Given the description of an element on the screen output the (x, y) to click on. 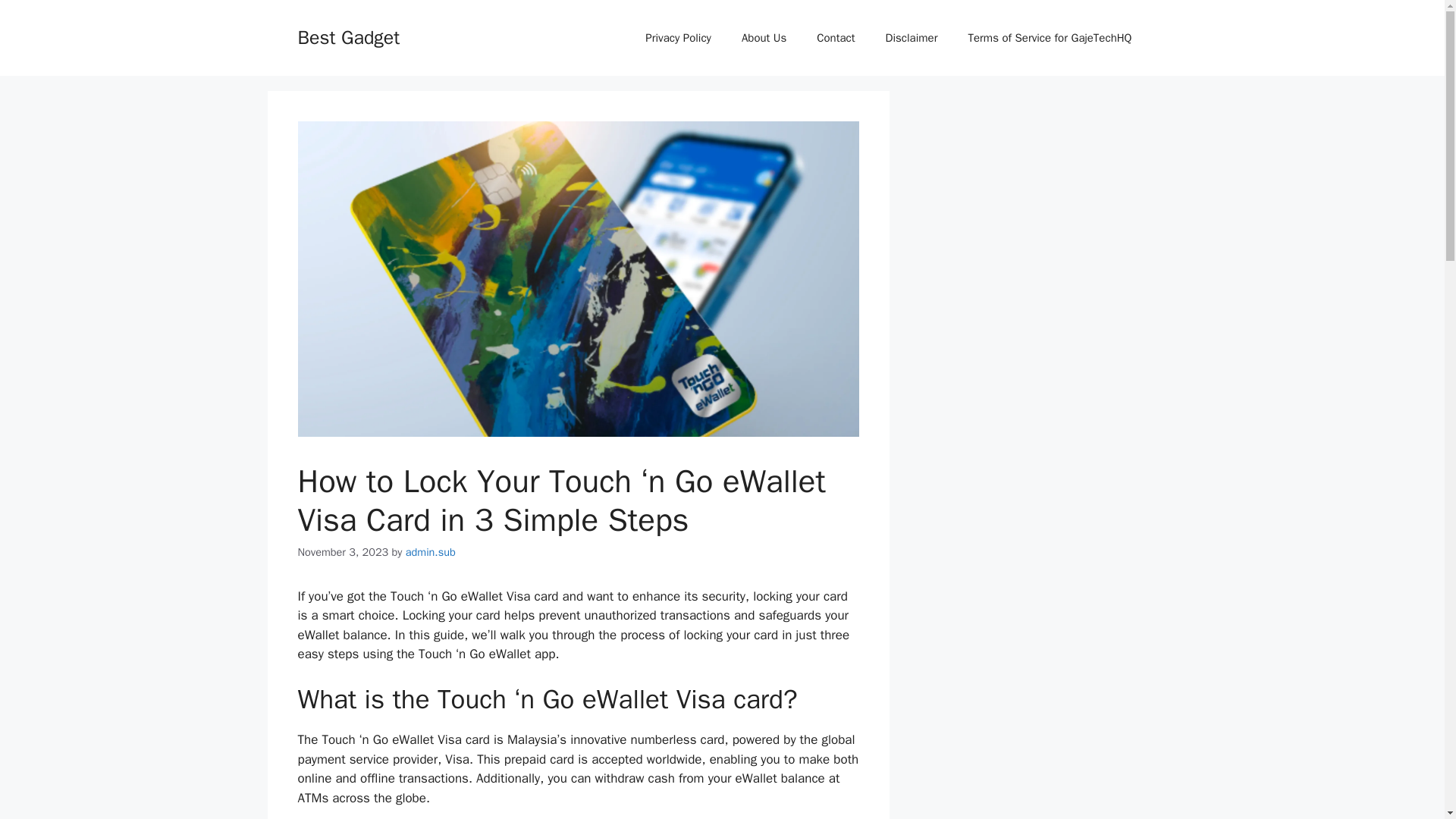
Disclaimer (911, 37)
Best Gadget (347, 37)
About Us (764, 37)
Contact (835, 37)
View all posts by admin.sub (430, 551)
Privacy Policy (678, 37)
Terms of Service for GajeTechHQ (1049, 37)
admin.sub (430, 551)
